Given the description of an element on the screen output the (x, y) to click on. 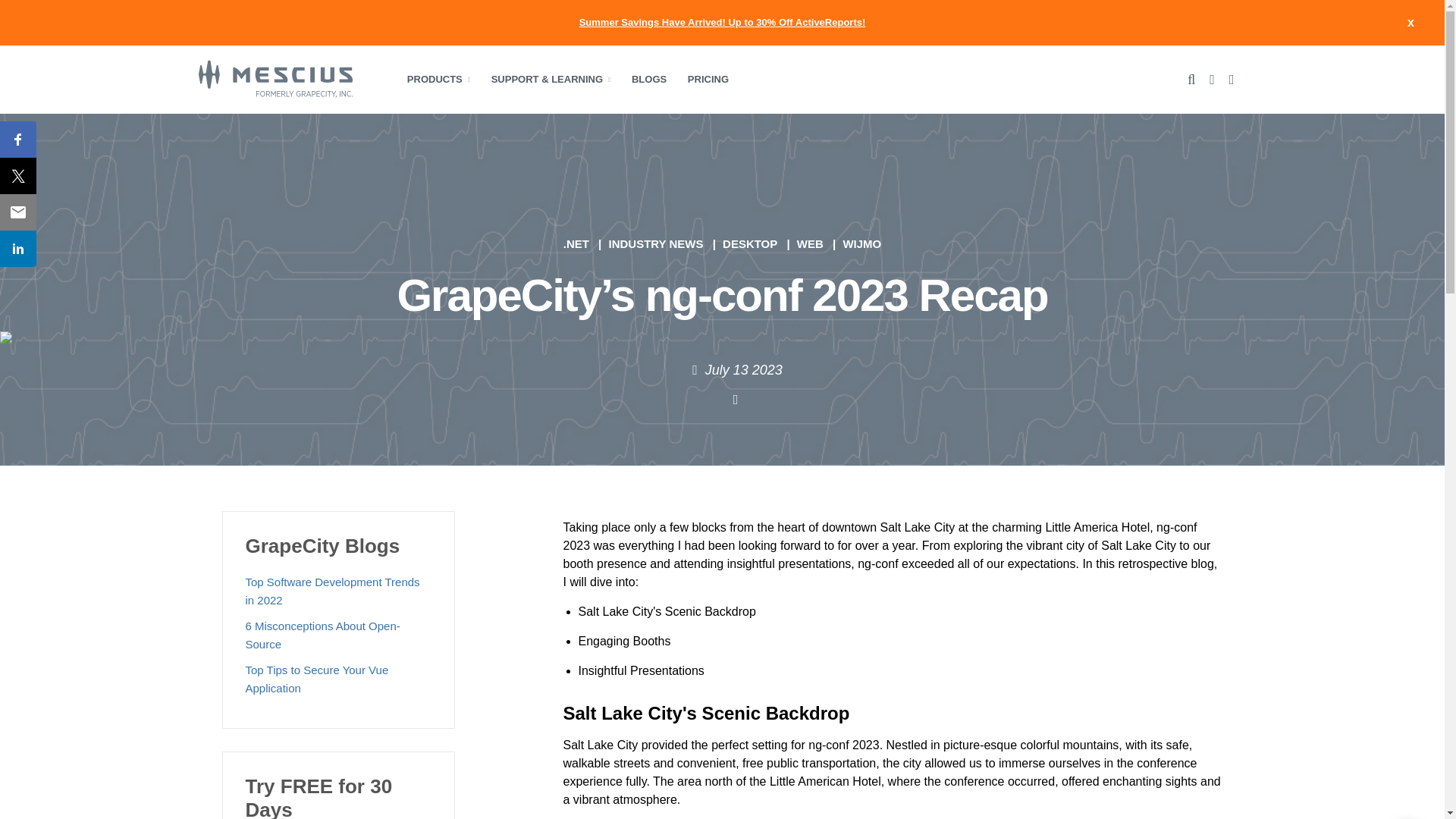
Desktop (749, 243)
PRICING (708, 79)
Industry News (655, 243)
BLOGS (648, 79)
Web (810, 243)
.NET (576, 243)
Wijmo (861, 243)
